Given the description of an element on the screen output the (x, y) to click on. 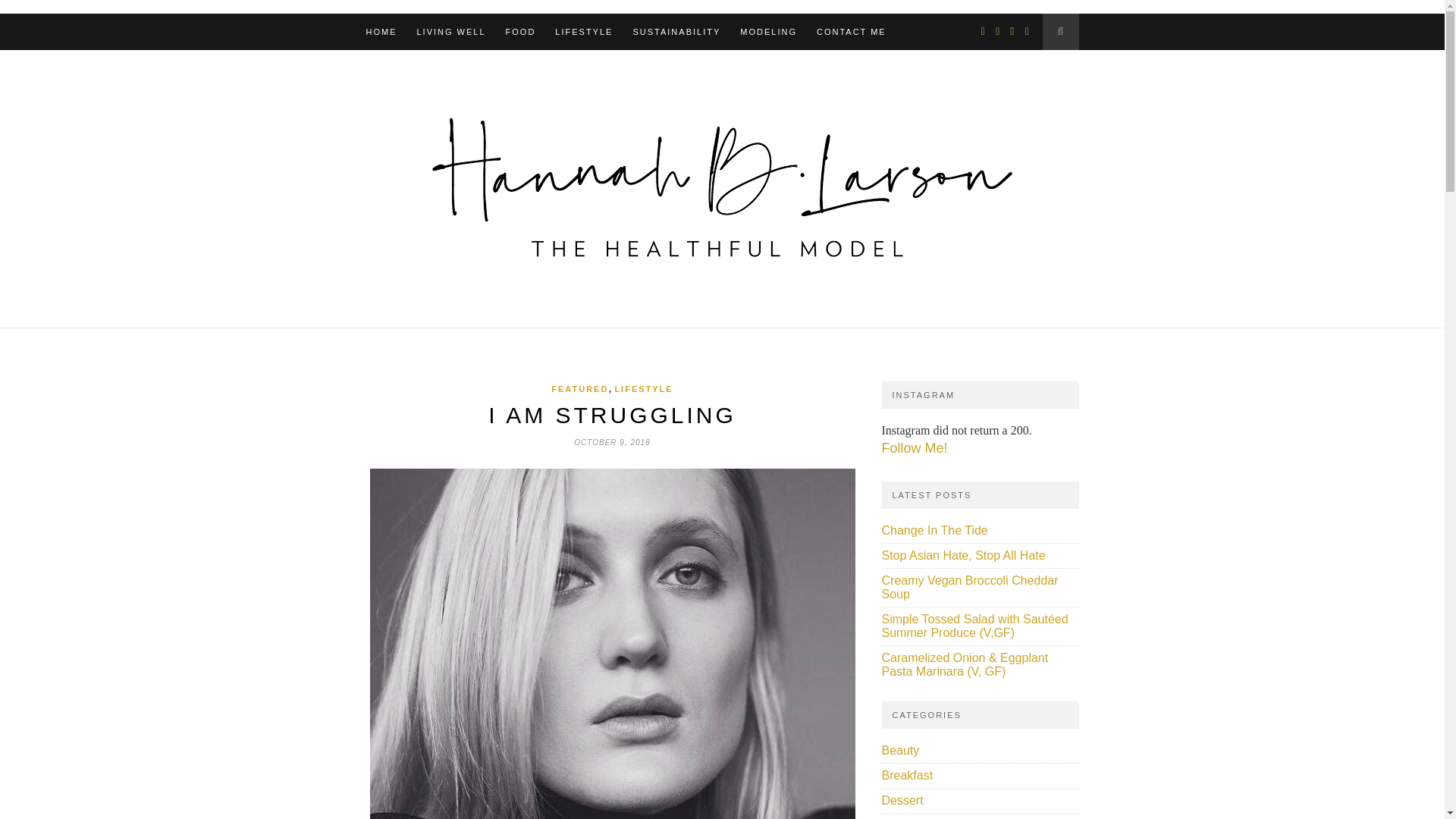
CONTACT ME (851, 31)
LIFESTYLE (583, 31)
MODELING (767, 31)
View all posts in Lifestyle (643, 388)
View all posts in Featured (579, 388)
SUSTAINABILITY (675, 31)
LIVING WELL (451, 31)
